Given the description of an element on the screen output the (x, y) to click on. 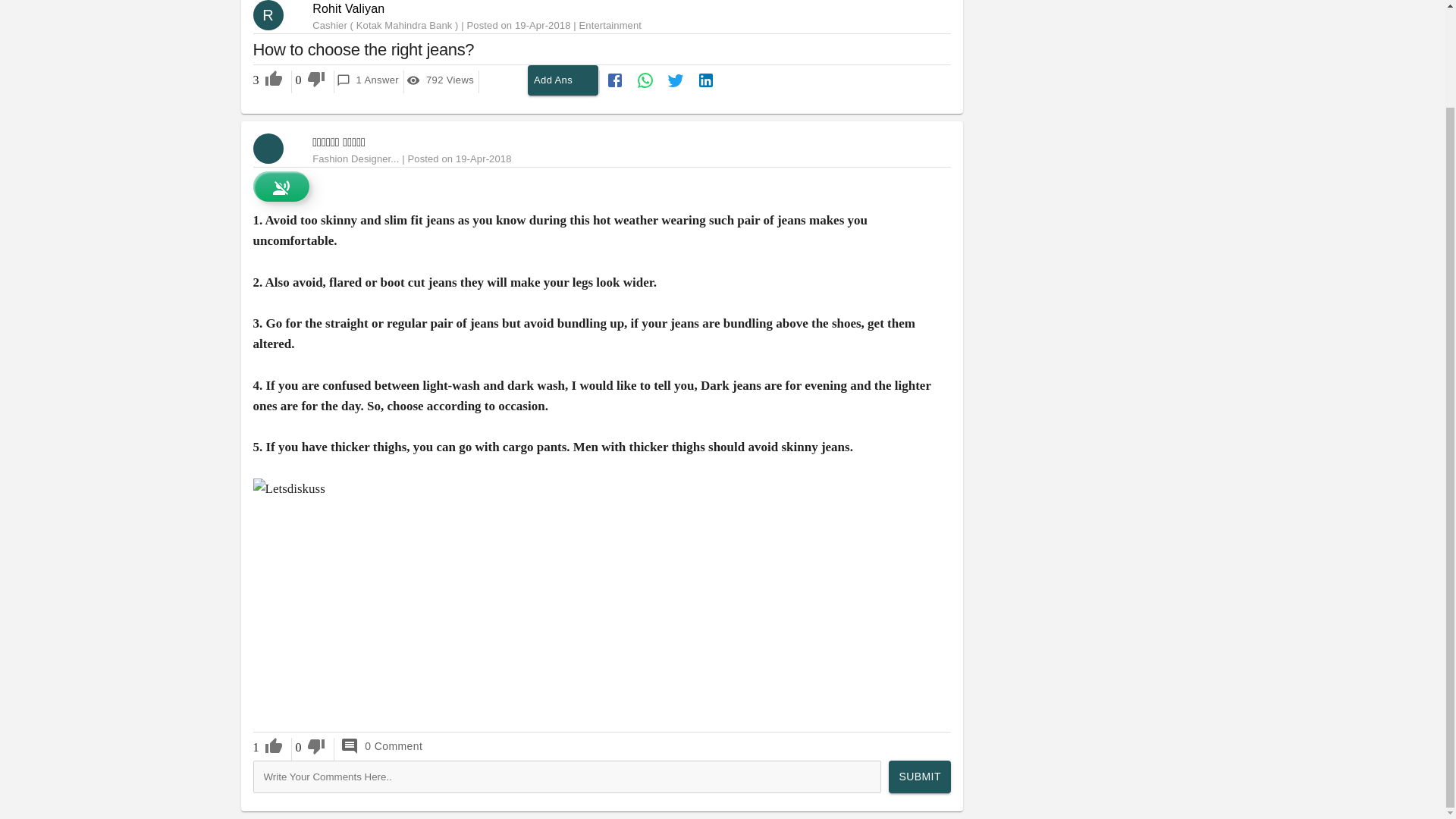
Rohit Valiyan (348, 8)
R (274, 15)
792 Views (440, 80)
1 Answer (367, 80)
